Given the description of an element on the screen output the (x, y) to click on. 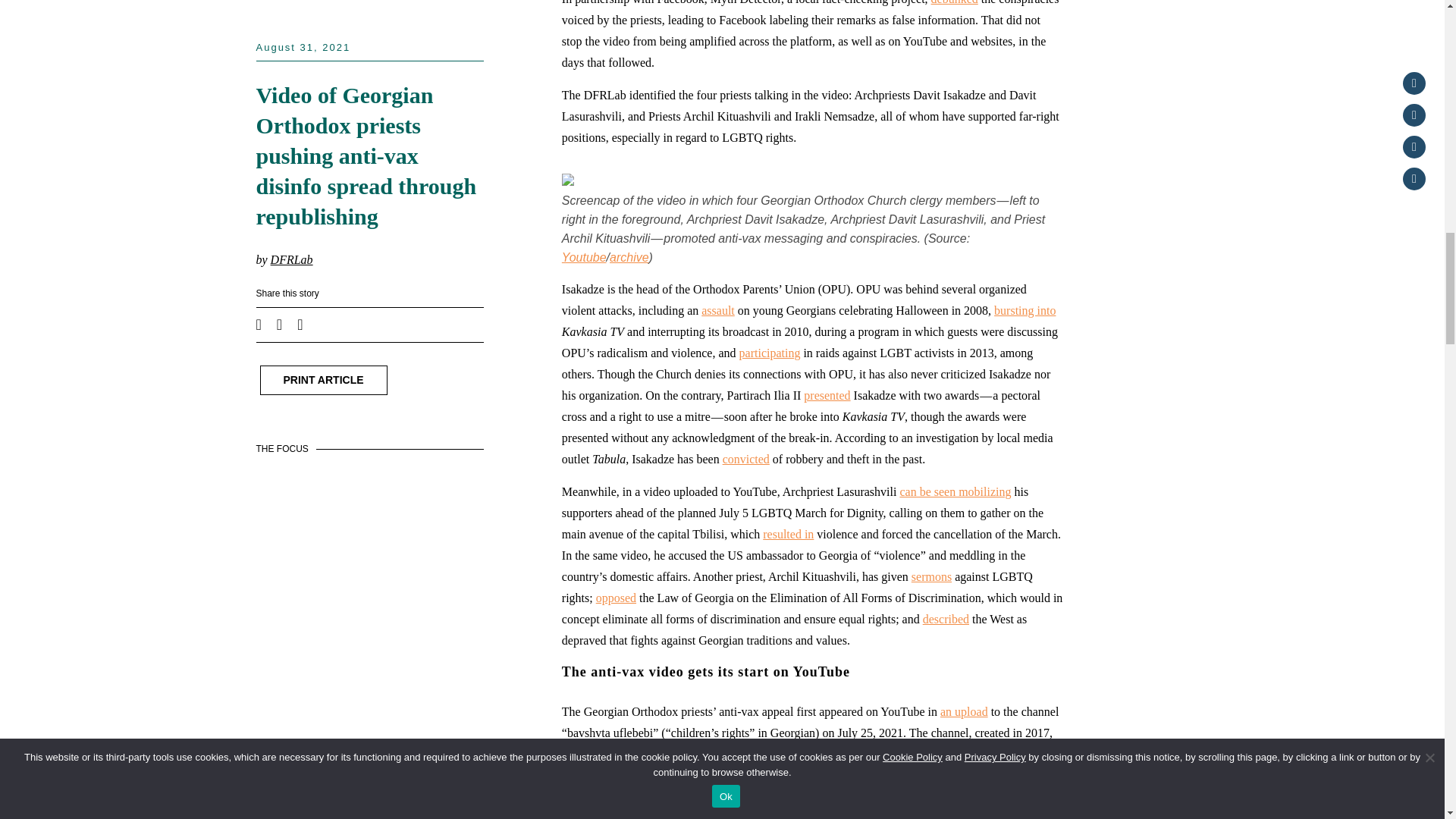
debunked (954, 2)
bursting into (1024, 309)
assault (718, 309)
Youtube (584, 256)
archive (629, 256)
participating (769, 352)
